Given the description of an element on the screen output the (x, y) to click on. 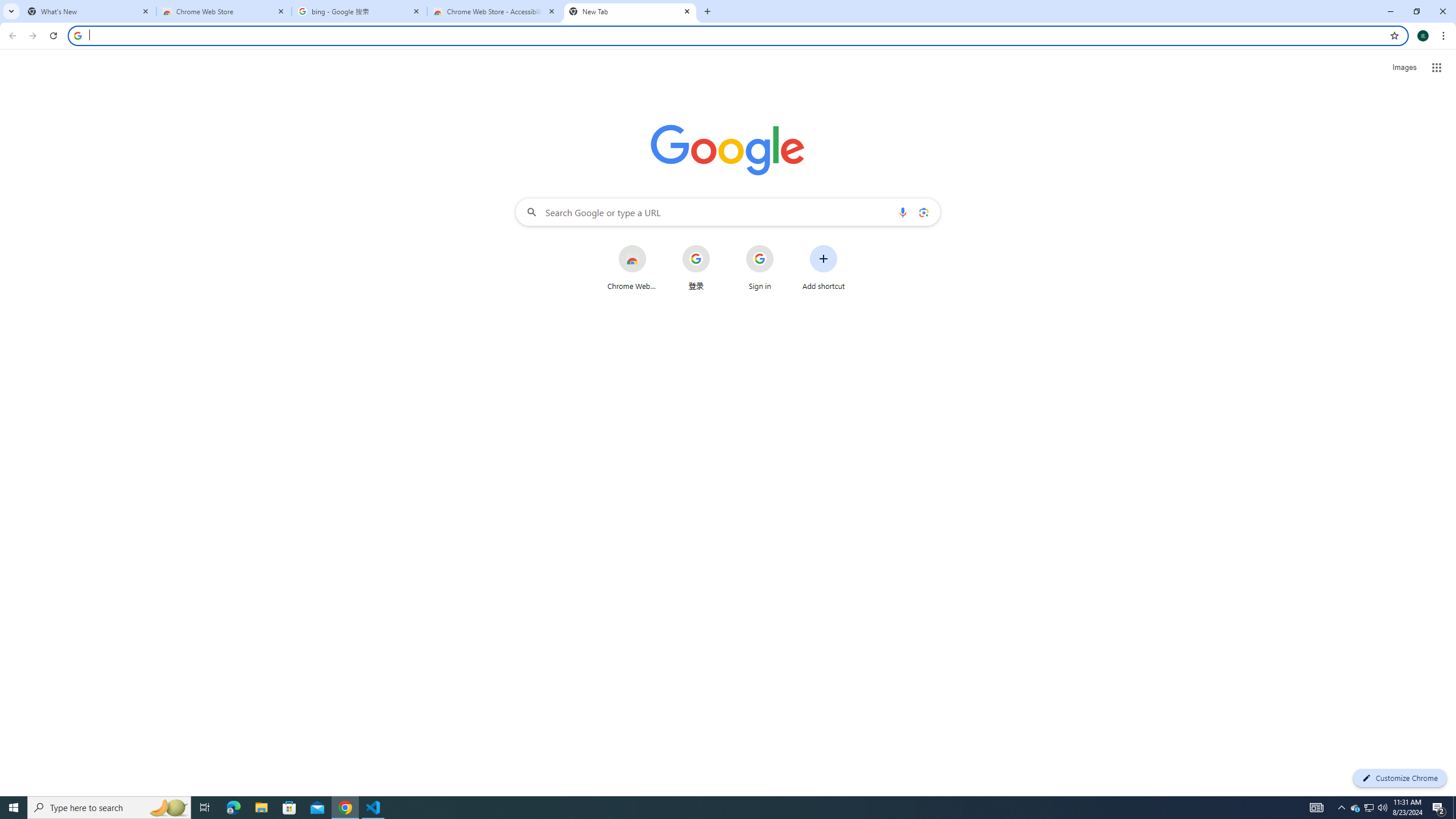
Chrome Web Store - Accessibility (494, 11)
Chrome Web Store (631, 267)
